Given the description of an element on the screen output the (x, y) to click on. 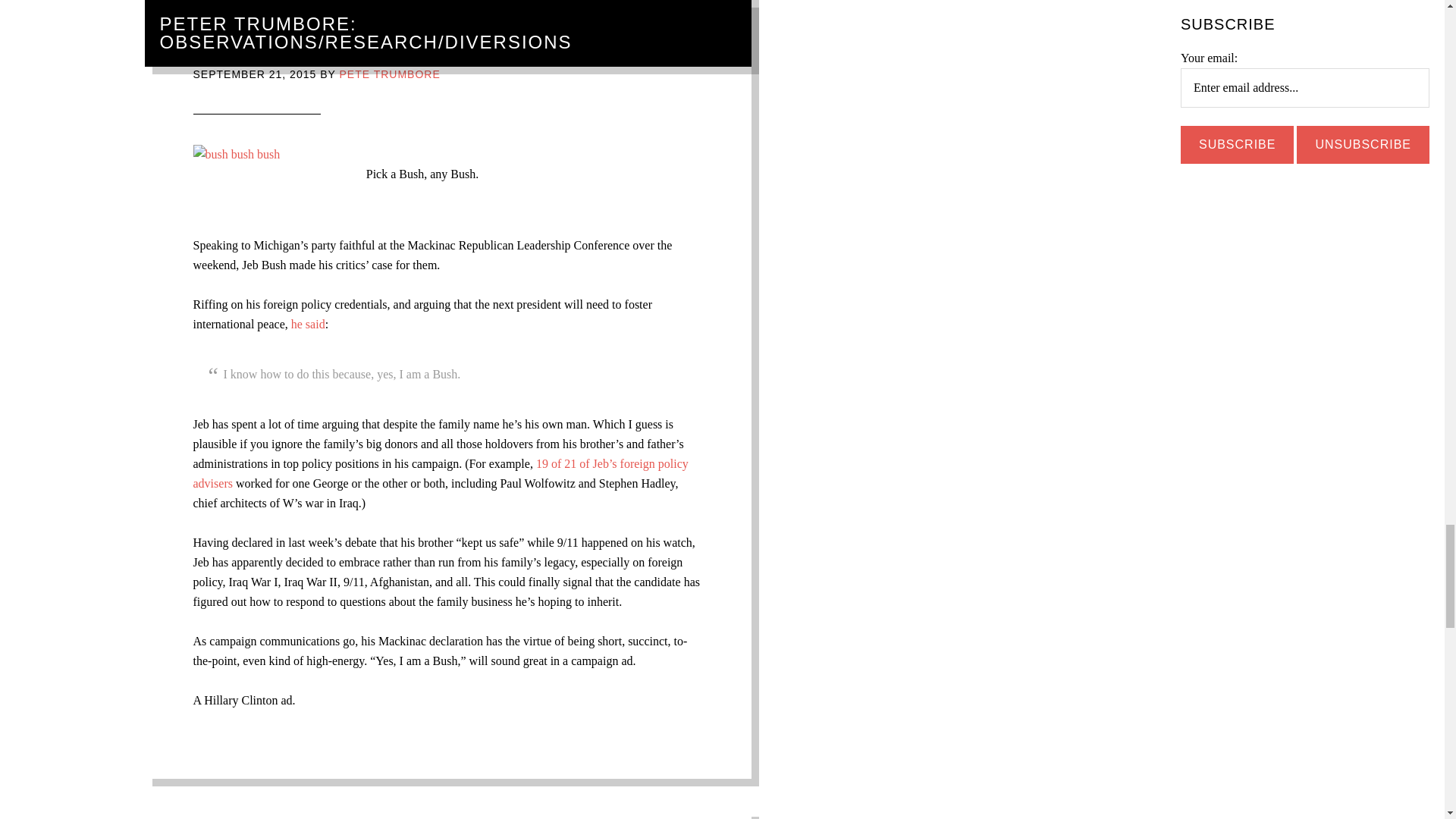
PETE TRUMBORE (389, 73)
he said (307, 323)
